Given the description of an element on the screen output the (x, y) to click on. 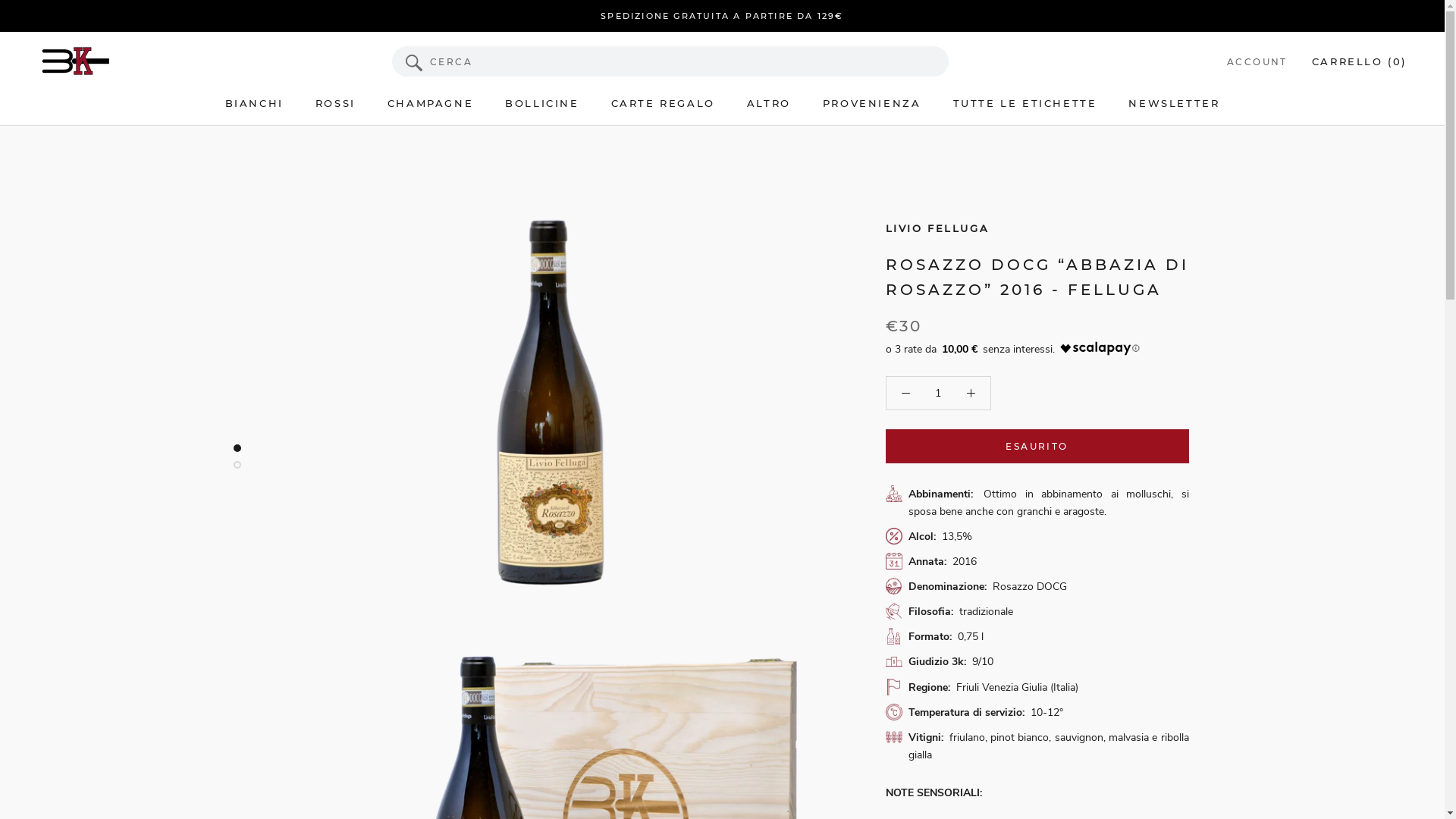
ACCOUNT Element type: text (1256, 61)
NEWSLETTER
NEWSLETTER Element type: text (1173, 103)
BOLLICINE
BOLLICINE Element type: text (541, 103)
ROSSI
ROSSI Element type: text (335, 103)
CARTE REGALO
CARTE REGALO Element type: text (663, 103)
LIVIO FELLUGA Element type: text (937, 228)
CARRELLO (0) Element type: text (1358, 61)
PROVENIENZA Element type: text (871, 103)
ESAURITO Element type: text (1037, 446)
CHAMPAGNE
CHAMPAGNE Element type: text (430, 103)
BIANCHI
BIANCHI Element type: text (254, 103)
TUTTE LE ETICHETTE
TUTTE LE ETICHETTE Element type: text (1024, 103)
ALTRO Element type: text (768, 103)
